Given the description of an element on the screen output the (x, y) to click on. 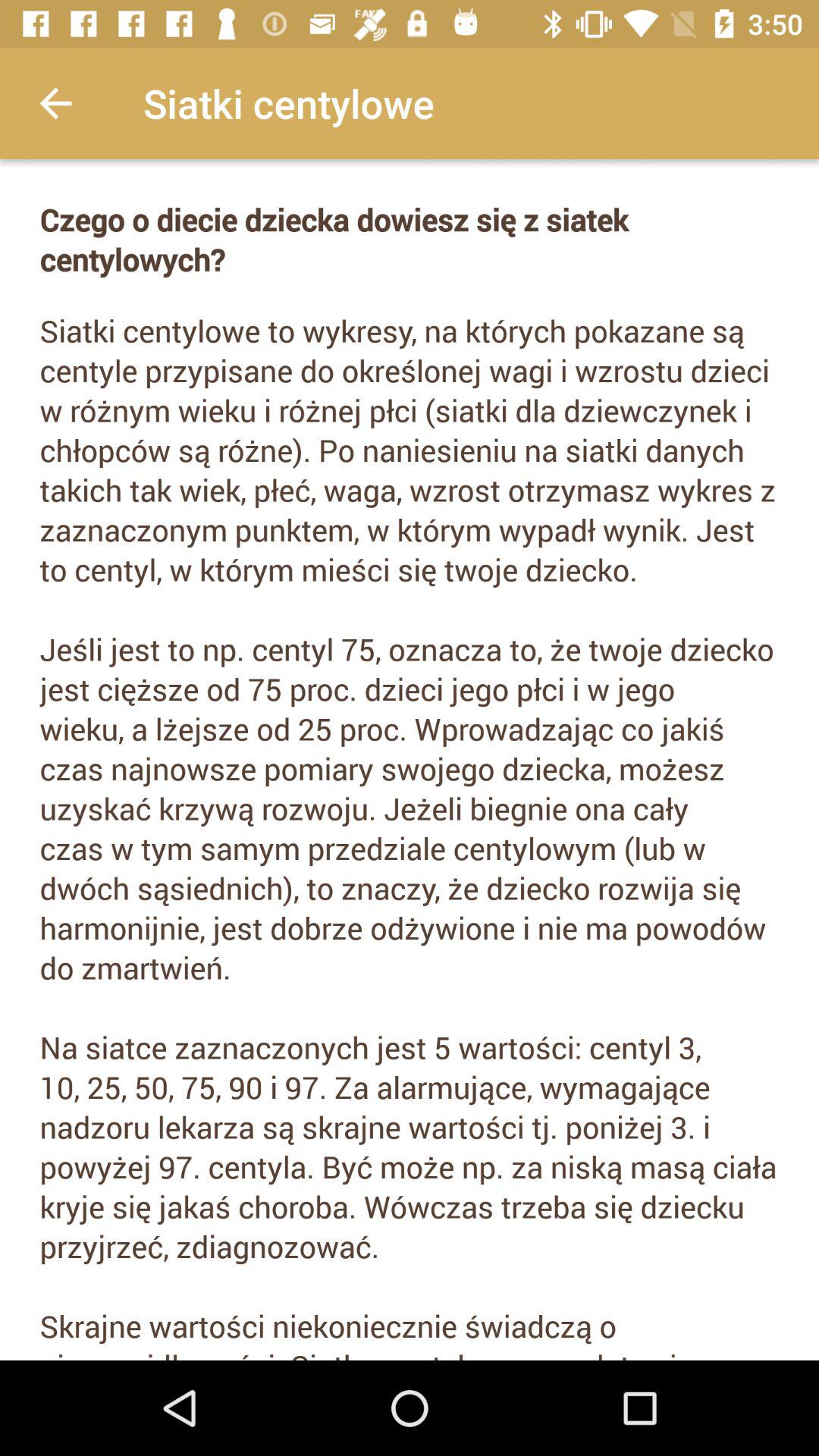
flip to the czego o diecie icon (409, 239)
